Given the description of an element on the screen output the (x, y) to click on. 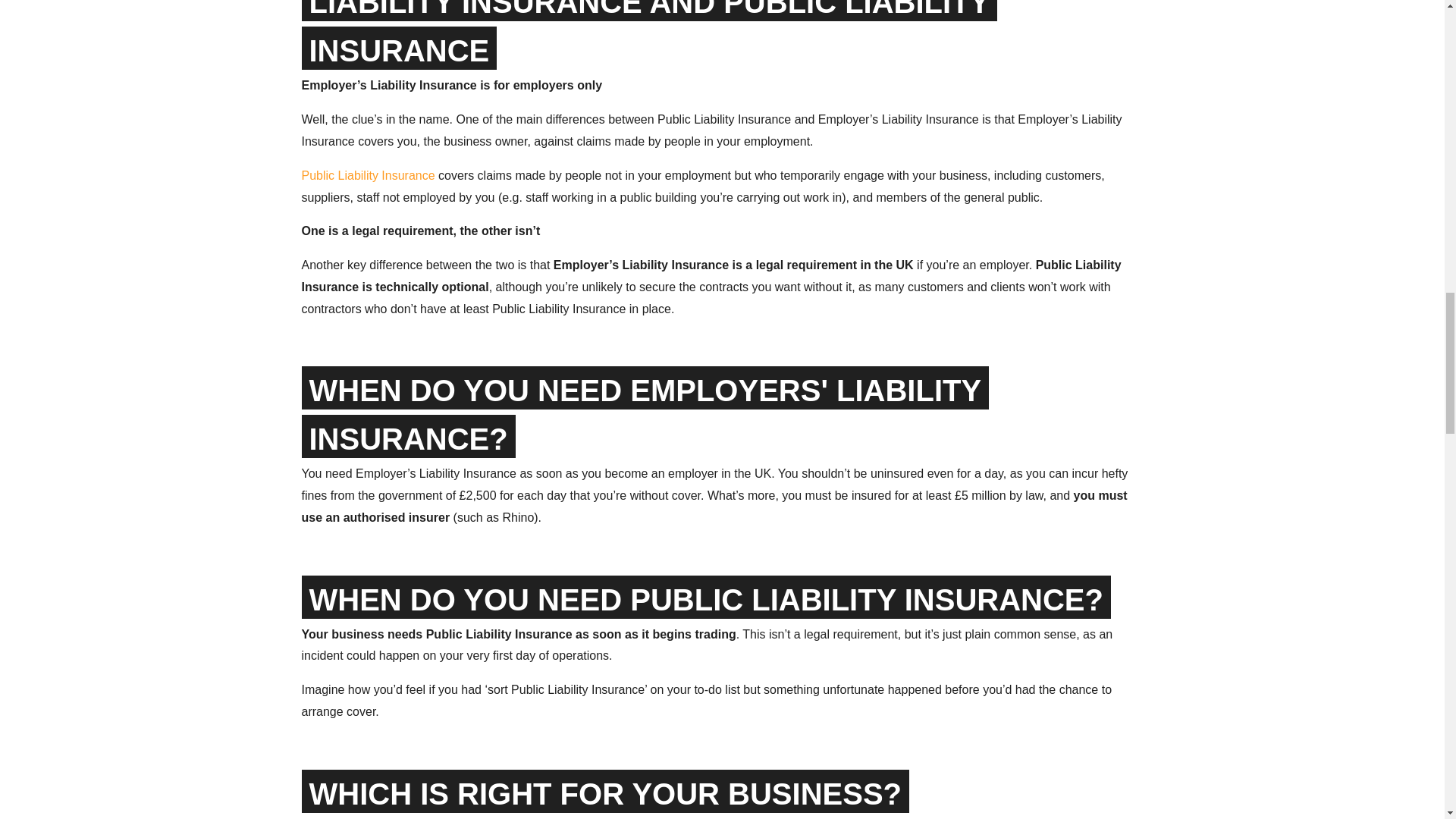
What does Public Liability Insurance Cover (368, 174)
